Given the description of an element on the screen output the (x, y) to click on. 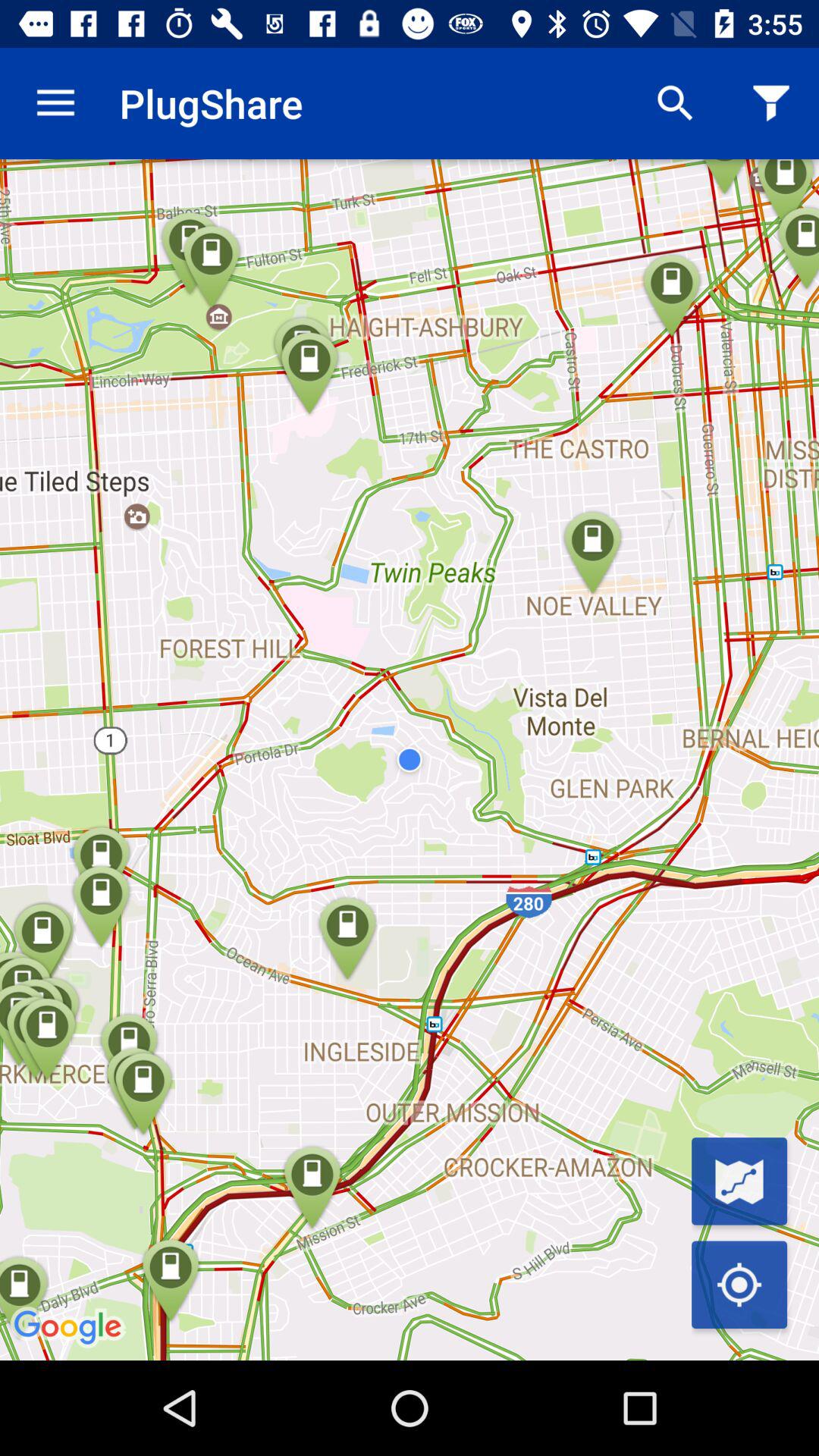
turn on the icon at the center (409, 759)
